Given the description of an element on the screen output the (x, y) to click on. 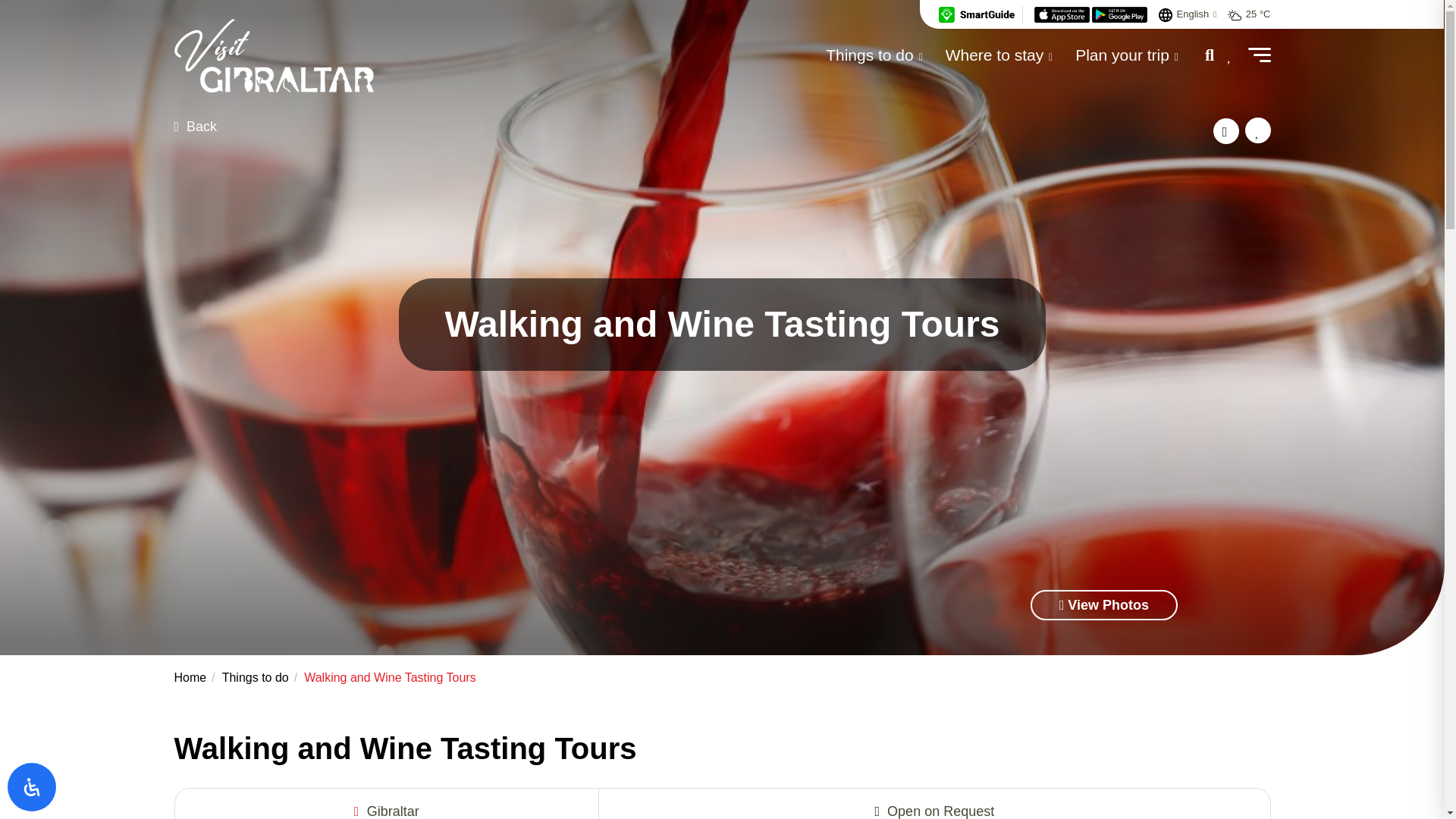
Get it on Google Play (1119, 13)
View Photos (1103, 604)
Home (190, 676)
Share (1225, 130)
Open Menu (1259, 53)
Plan your trip (1126, 54)
Things to do (255, 676)
Where to stay (998, 54)
Download on the App Store (1062, 13)
Back (195, 126)
